Given the description of an element on the screen output the (x, y) to click on. 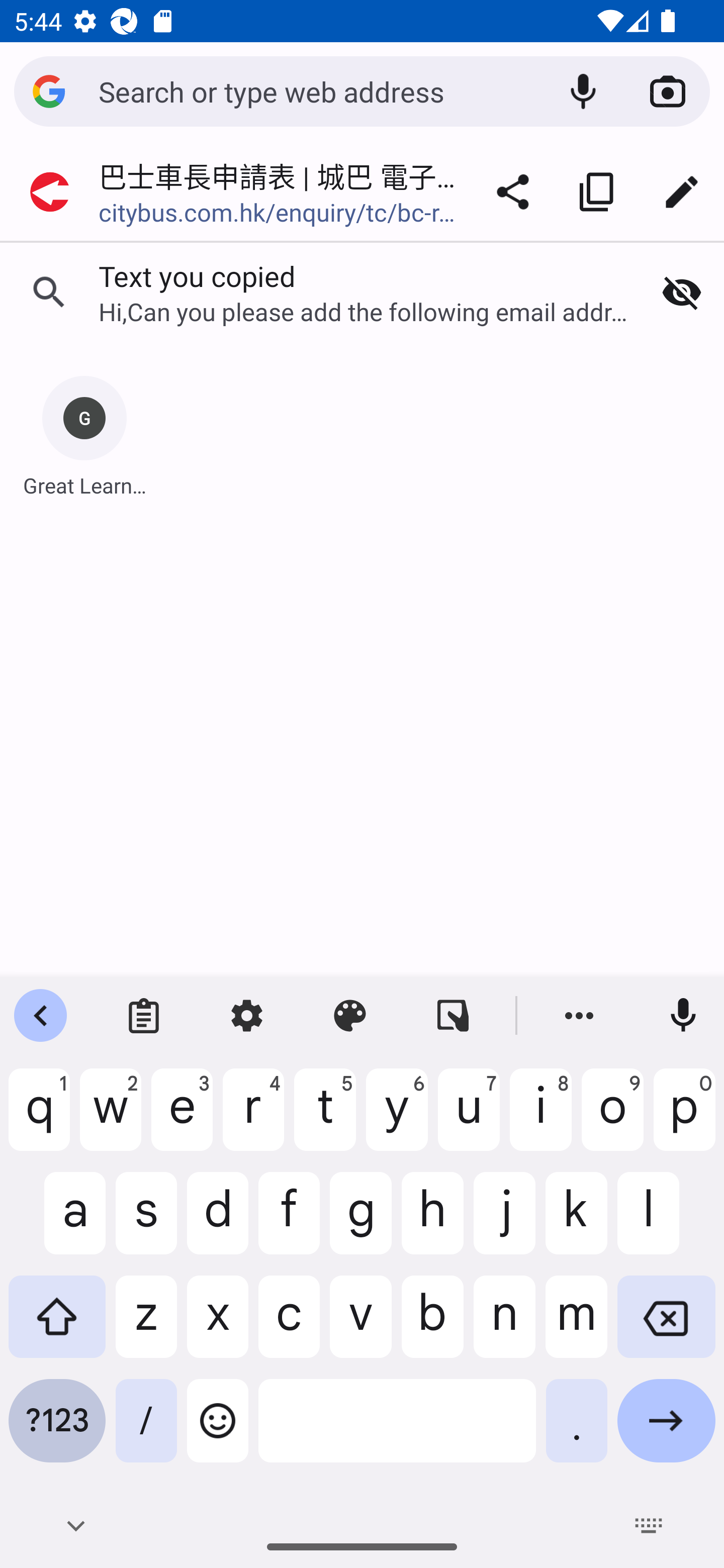
Start voice search (582, 91)
Search with your camera using Google Lens (667, 91)
Search or type web address (319, 90)
Share… (512, 192)
Copy link (597, 192)
Edit (681, 192)
Hide clipboard contents (681, 292)
